Given the description of an element on the screen output the (x, y) to click on. 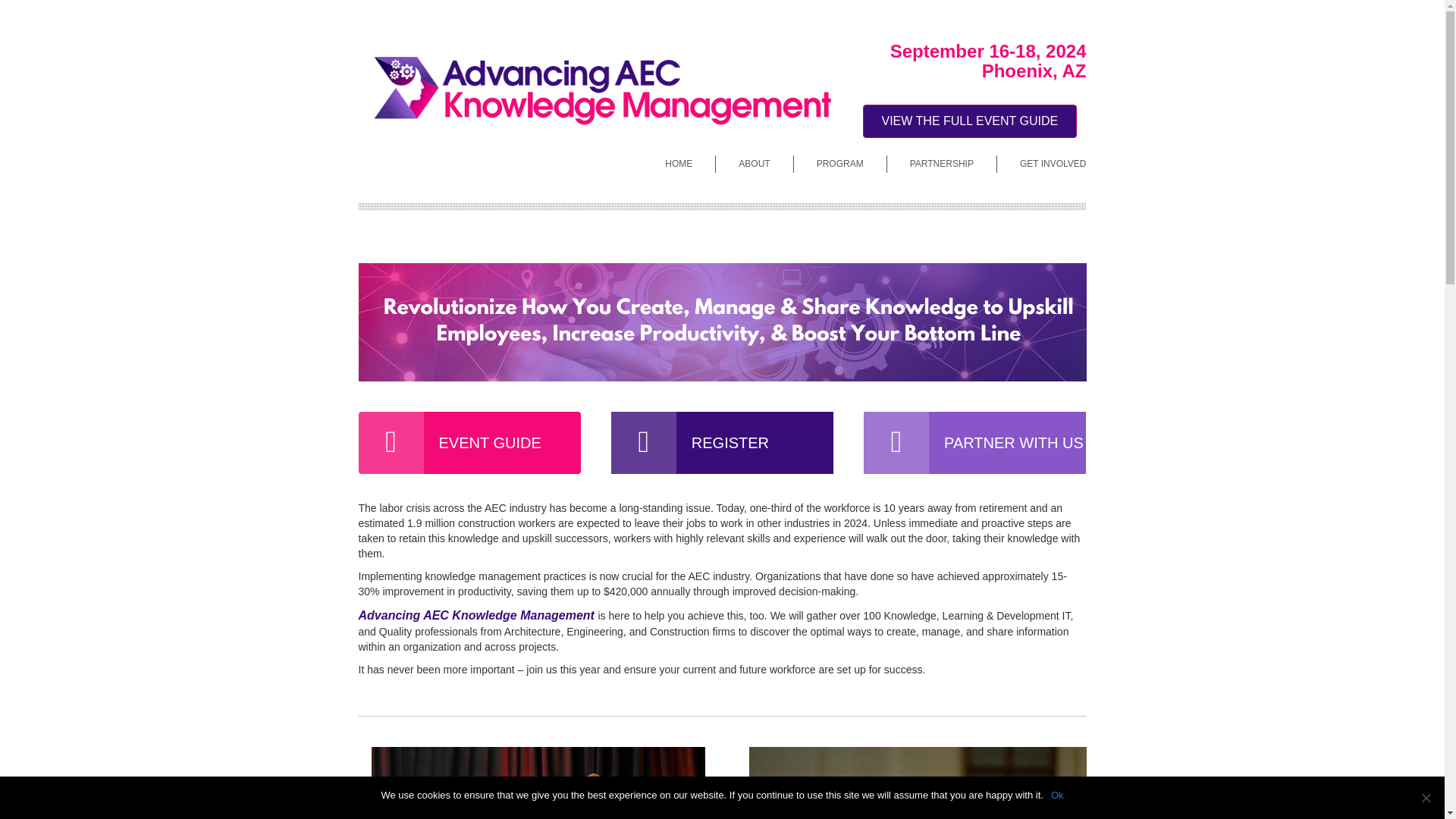
GET INVOLVED (1041, 163)
48677- Tag Line Banner (722, 321)
PARTNER WITH US (974, 442)
PROGRAM (839, 163)
Logo without date (594, 89)
HOME (678, 163)
PARTNERSHIP (940, 163)
Search (29, 12)
REGISTER (721, 442)
No (1425, 797)
ABOUT (754, 163)
EVENT GUIDE (468, 442)
VIEW THE FULL EVENT GUIDE (970, 149)
450 x 300 (537, 782)
